Given the description of an element on the screen output the (x, y) to click on. 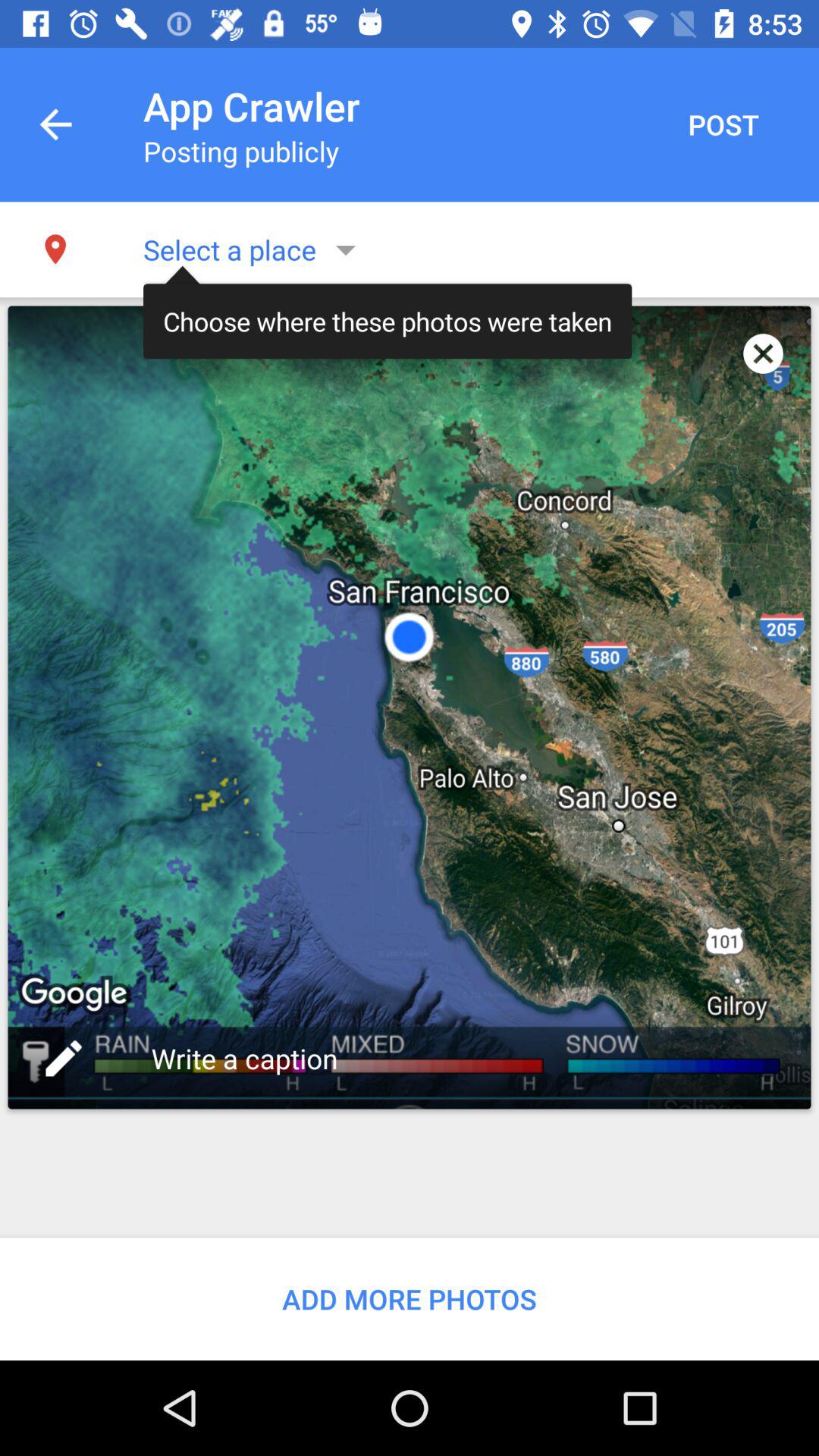
swipe to post button (723, 124)
